Given the description of an element on the screen output the (x, y) to click on. 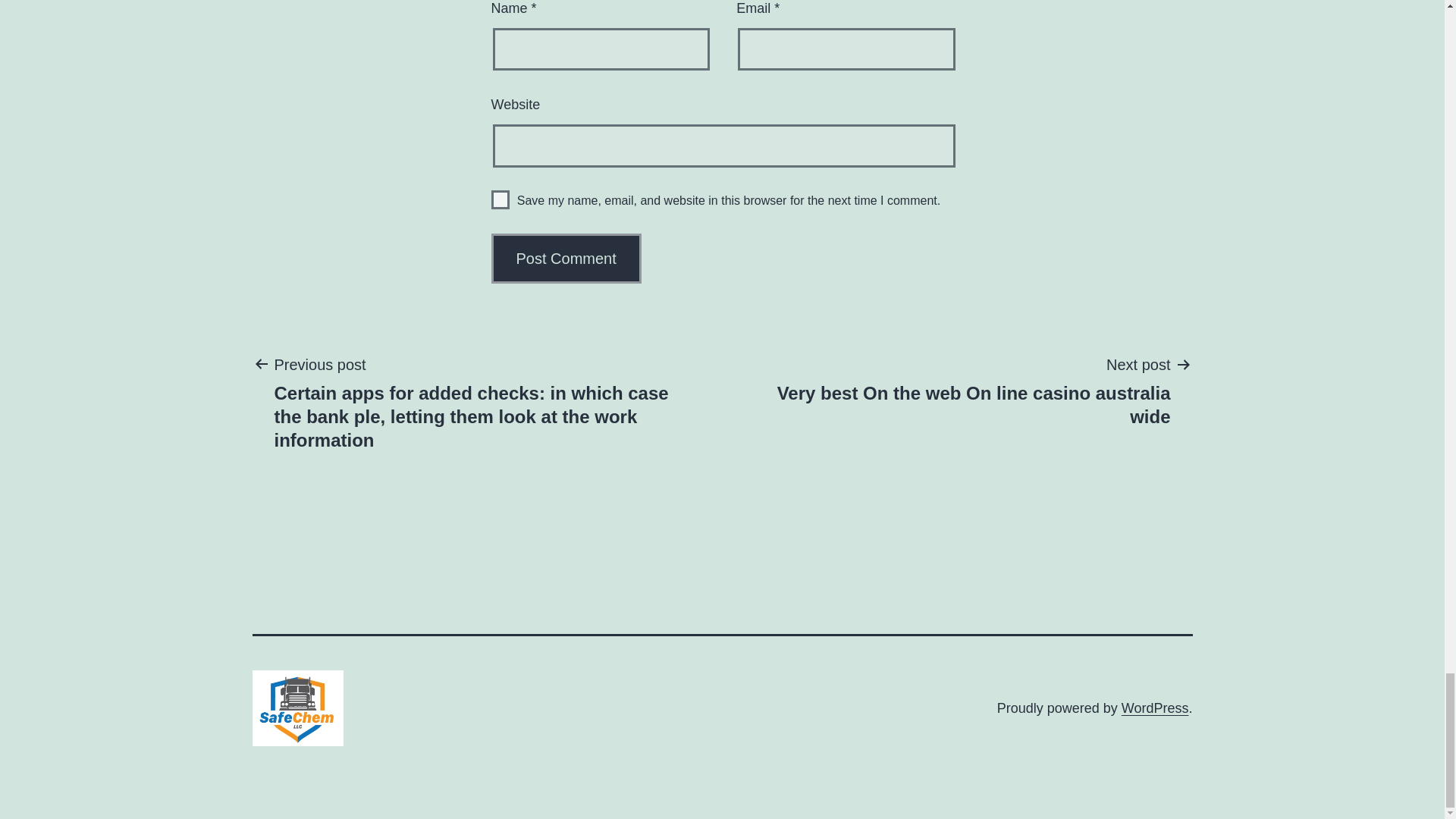
Post Comment (960, 390)
WordPress (567, 258)
yes (1155, 708)
Post Comment (500, 198)
